Given the description of an element on the screen output the (x, y) to click on. 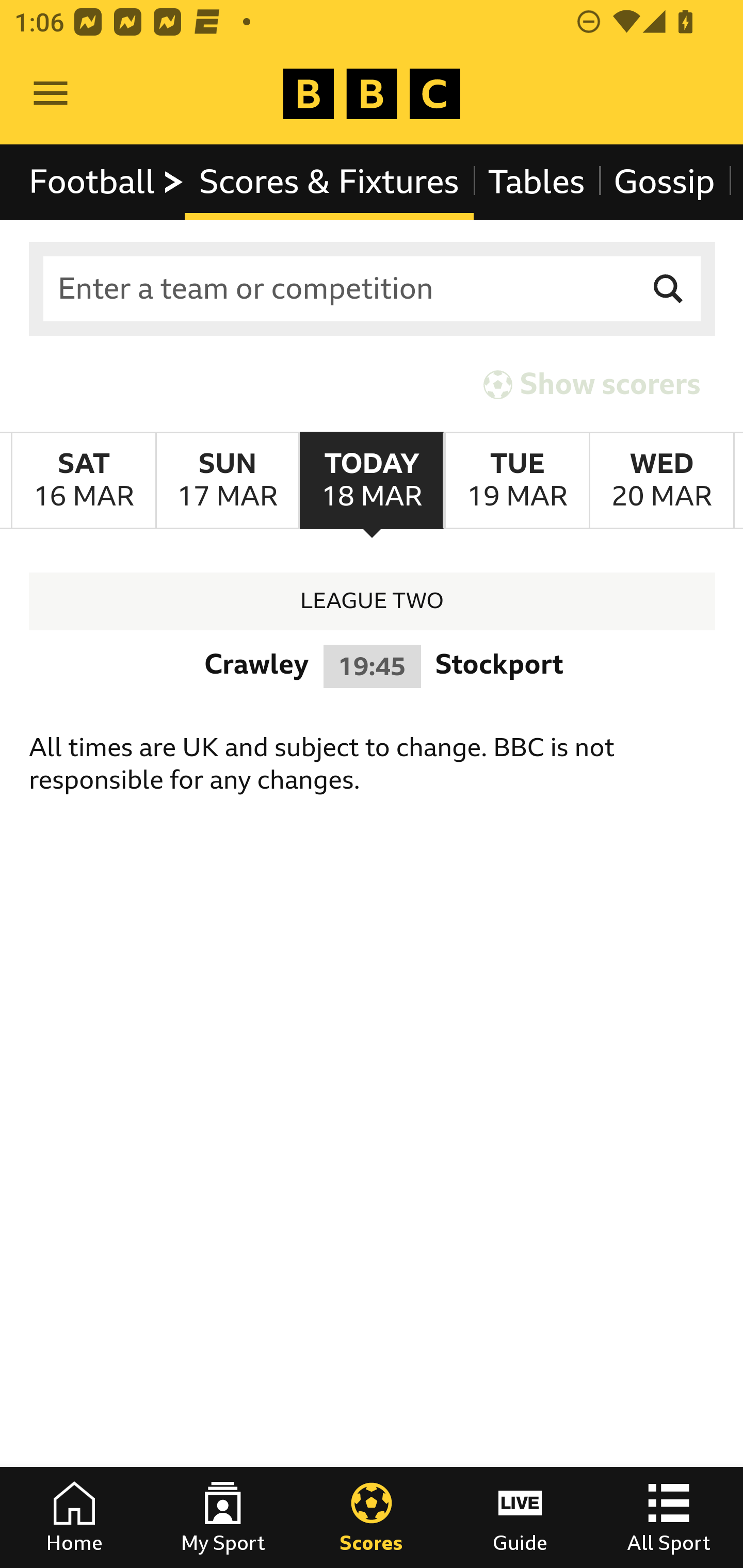
Open Menu (50, 93)
Football  (106, 181)
Scores & Fixtures (329, 181)
Tables (536, 181)
Gossip (664, 181)
Search (669, 289)
Show scorers (591, 383)
SaturdayMarch 16th Saturday March 16th (83, 480)
SundayMarch 17th Sunday March 17th (227, 480)
TuesdayMarch 19th Tuesday March 19th (516, 480)
WednesdayMarch 20th Wednesday March 20th (661, 480)
Home (74, 1517)
My Sport (222, 1517)
Guide (519, 1517)
All Sport (668, 1517)
